Given the description of an element on the screen output the (x, y) to click on. 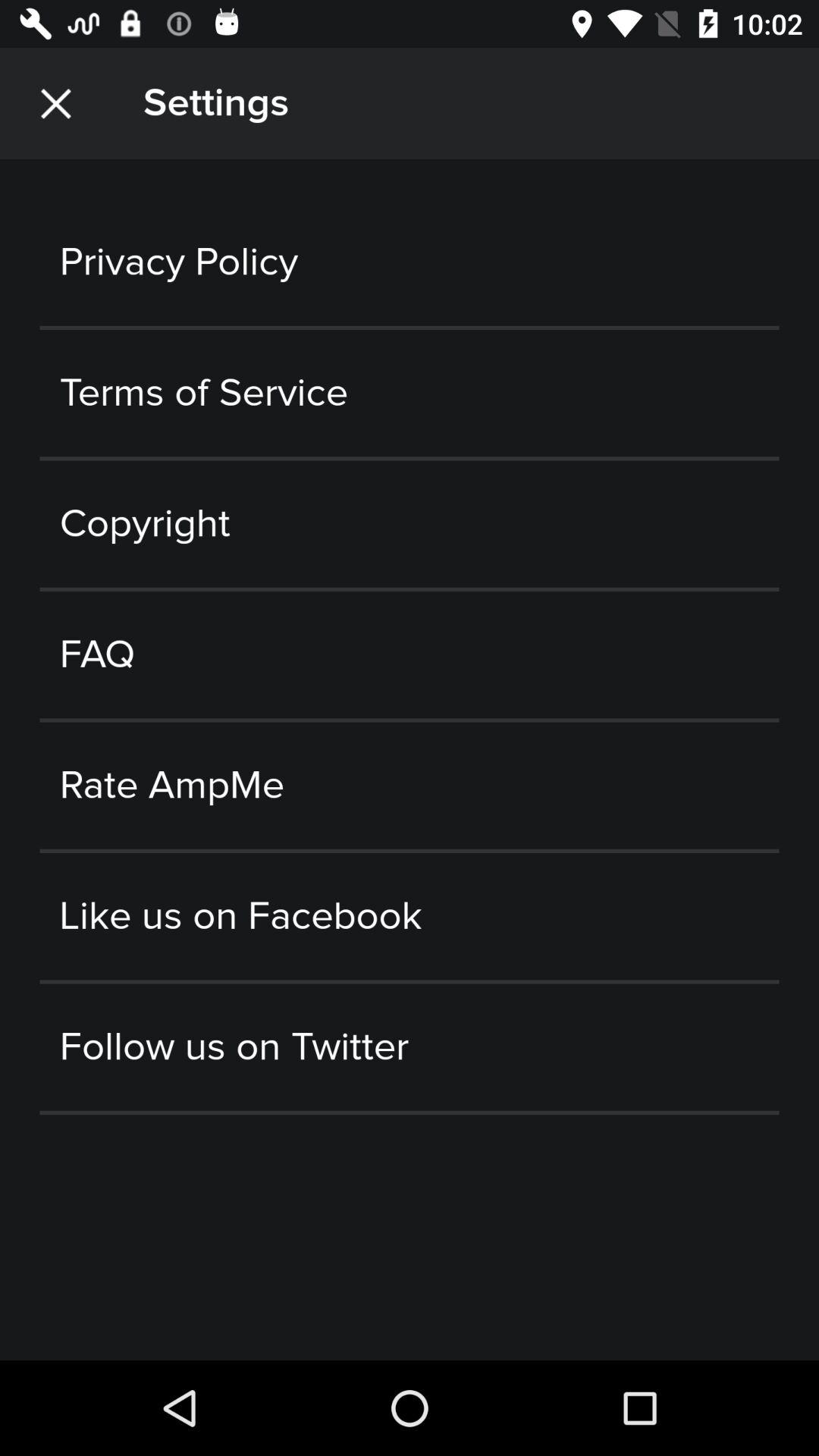
turn on copyright icon (409, 523)
